Given the description of an element on the screen output the (x, y) to click on. 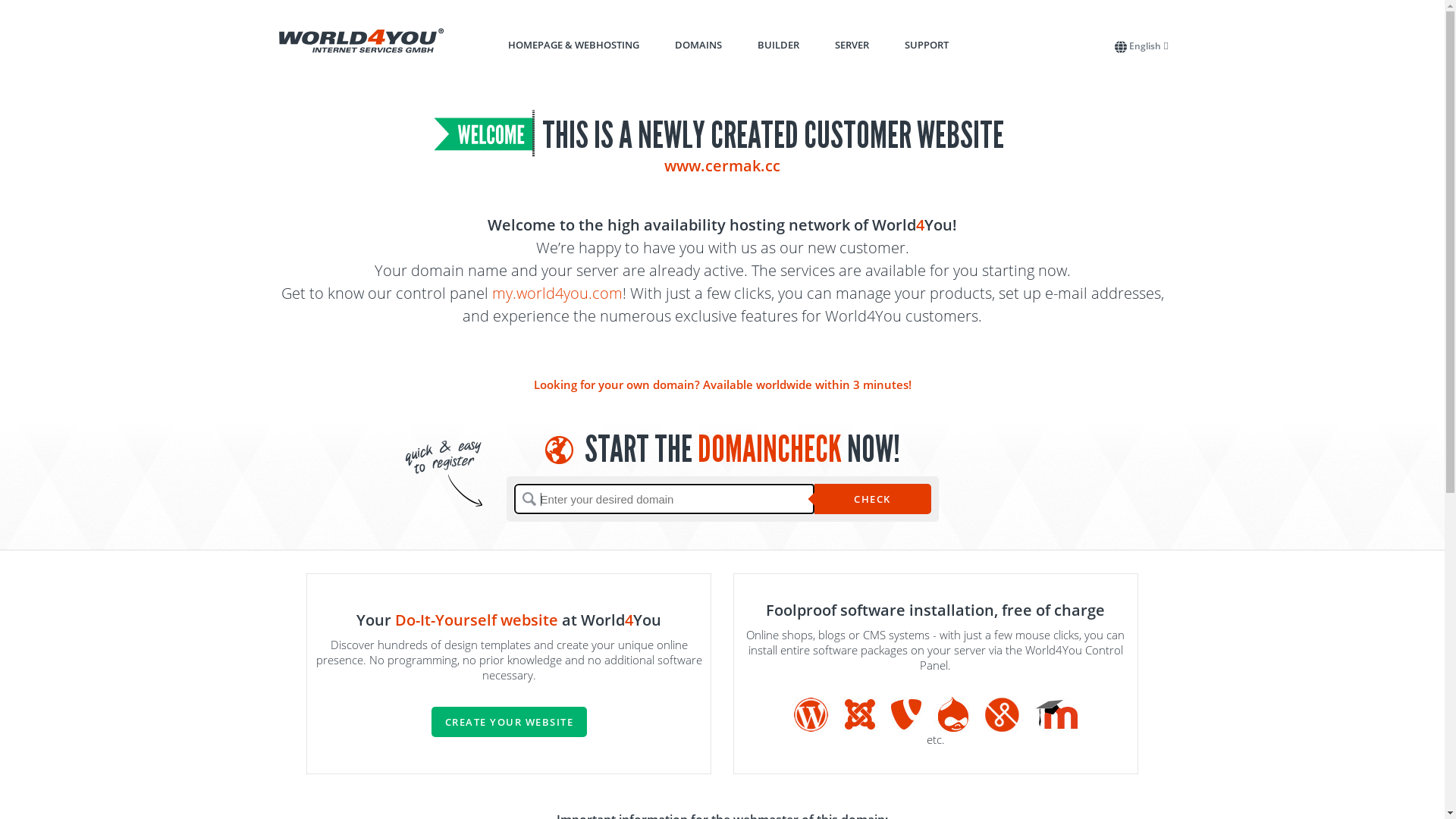
BUILDER Element type: text (777, 44)
SUPPORT Element type: text (925, 44)
SERVER Element type: text (851, 44)
CHECK Element type: text (872, 498)
DOMAINS Element type: text (697, 44)
my.world4you.com Element type: text (556, 292)
CREATE YOUR WEBSITE Element type: text (508, 721)
HOMEPAGE & WEBHOSTING Element type: text (573, 44)
To the World4You Homepage Element type: hover (361, 40)
